Given the description of an element on the screen output the (x, y) to click on. 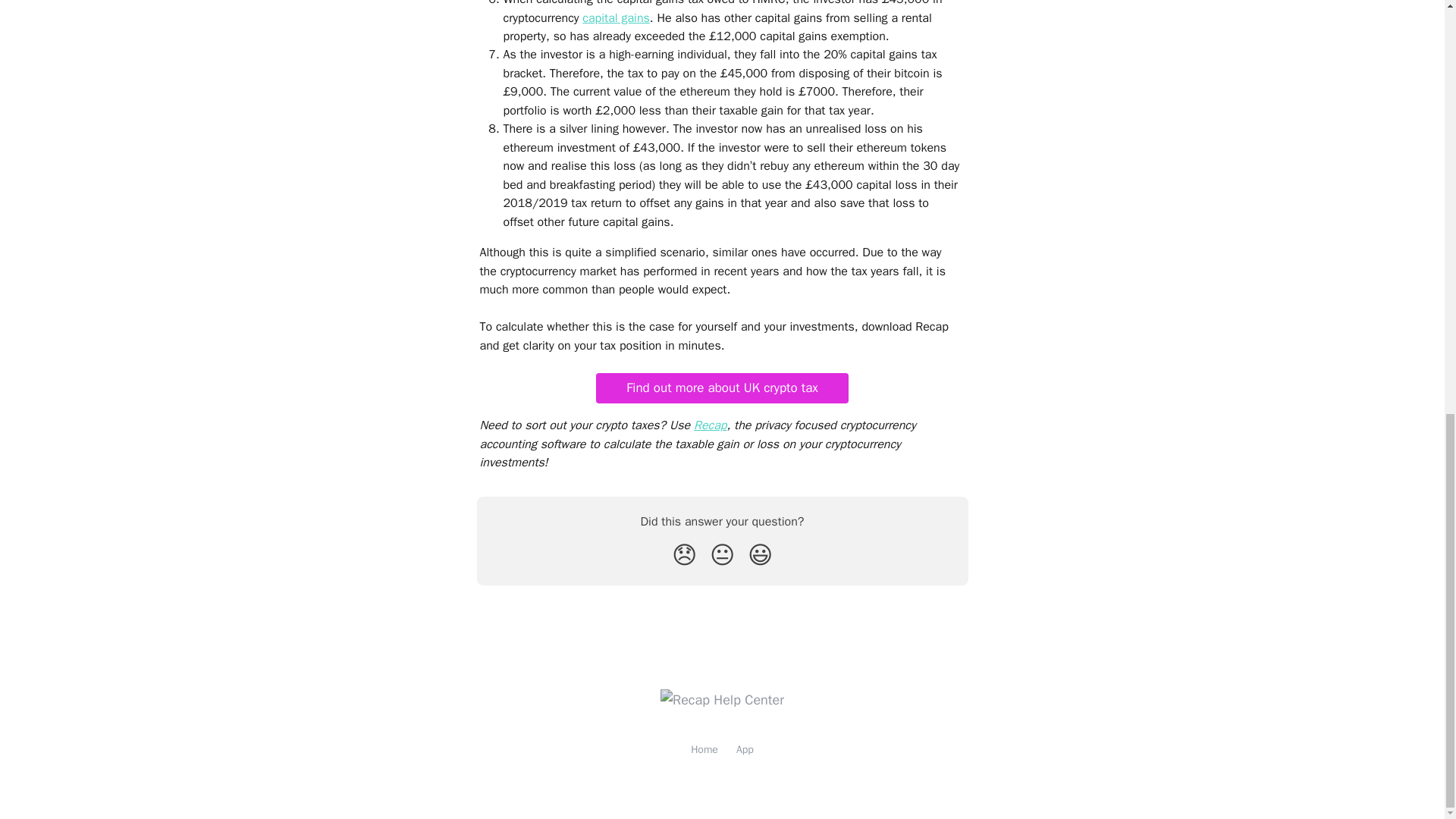
capital gains (615, 17)
Home (703, 748)
App (745, 748)
Recap (710, 425)
Find out more about UK crypto tax (721, 388)
